Given the description of an element on the screen output the (x, y) to click on. 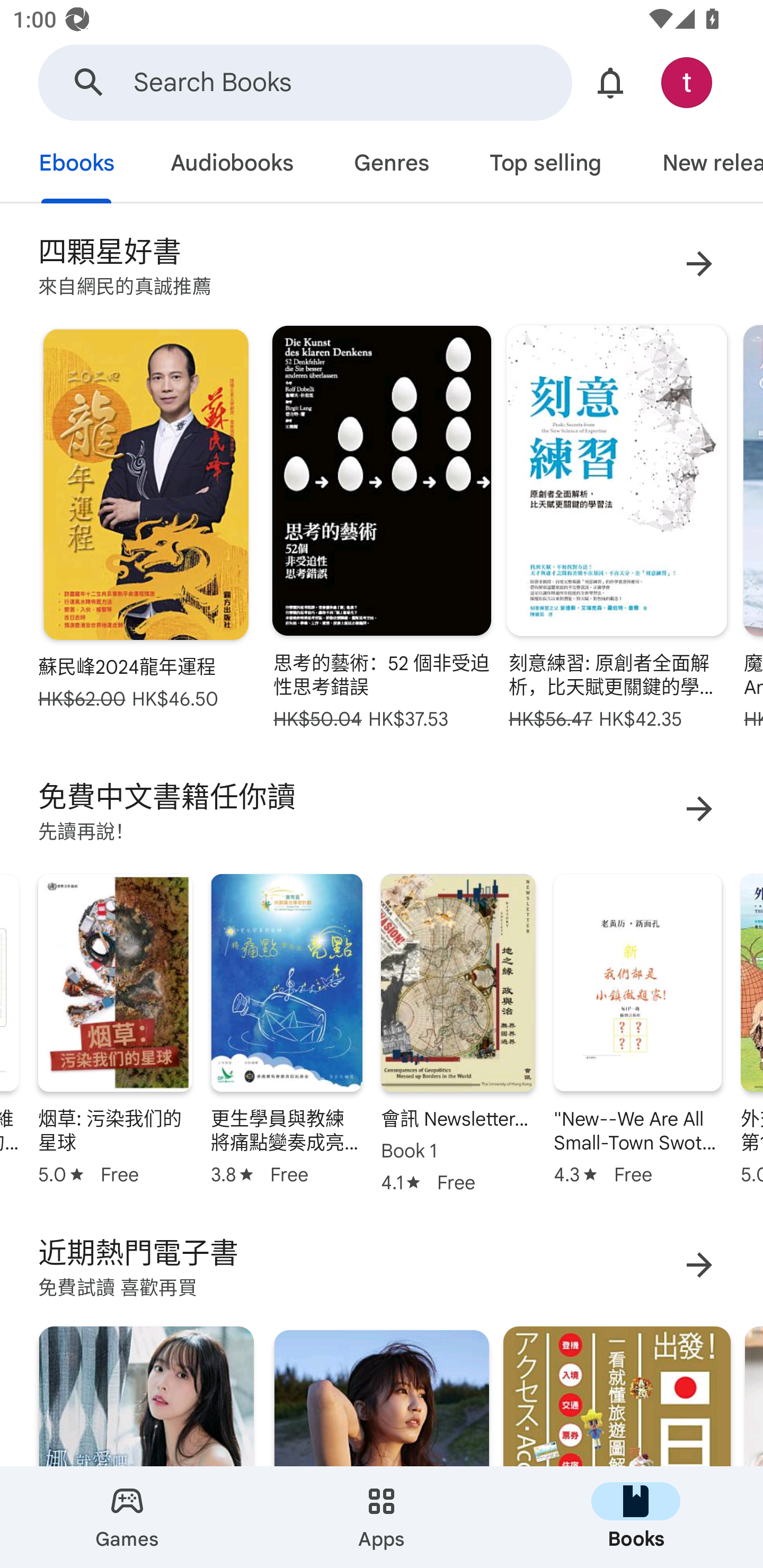
Search Google Play Search Books (305, 81)
Search Google Play (89, 81)
Show notifications and offers. (610, 81)
Audiobooks (231, 165)
Genres (390, 165)
Top selling (544, 165)
四顆星好書 來自網民的真誠推薦 More results for 四顆星好書 (381, 263)
More results for 四顆星好書 (699, 263)
免費中文書籍任你讀 先讀再說！ More results for 免費中文書籍任你讀 (381, 807)
More results for 免費中文書籍任你讀 (699, 808)
烟草: 污染我们的星球
Star rating: 5.0
Free
 (114, 1026)
更生學員與教練 將痛點變奏成亮點
Star rating: 3.8
Free
 (286, 1026)
近期熱門電子書 免費試讀 喜歡再買 More results for 近期熱門電子書 (381, 1264)
More results for 近期熱門電子書 (699, 1264)
Games (127, 1517)
Apps (381, 1517)
